Given the description of an element on the screen output the (x, y) to click on. 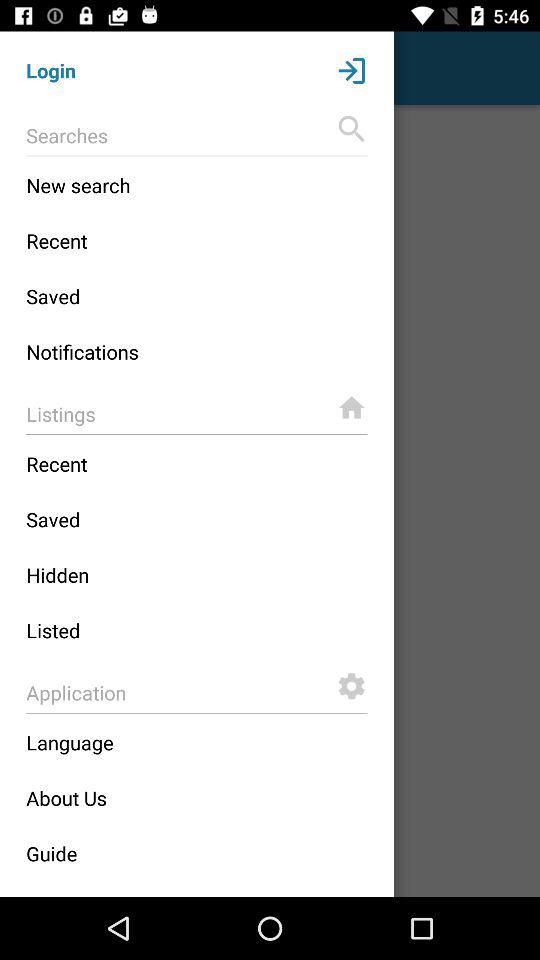
click on the settings icon which is right hand side of the text application (351, 686)
